Given the description of an element on the screen output the (x, y) to click on. 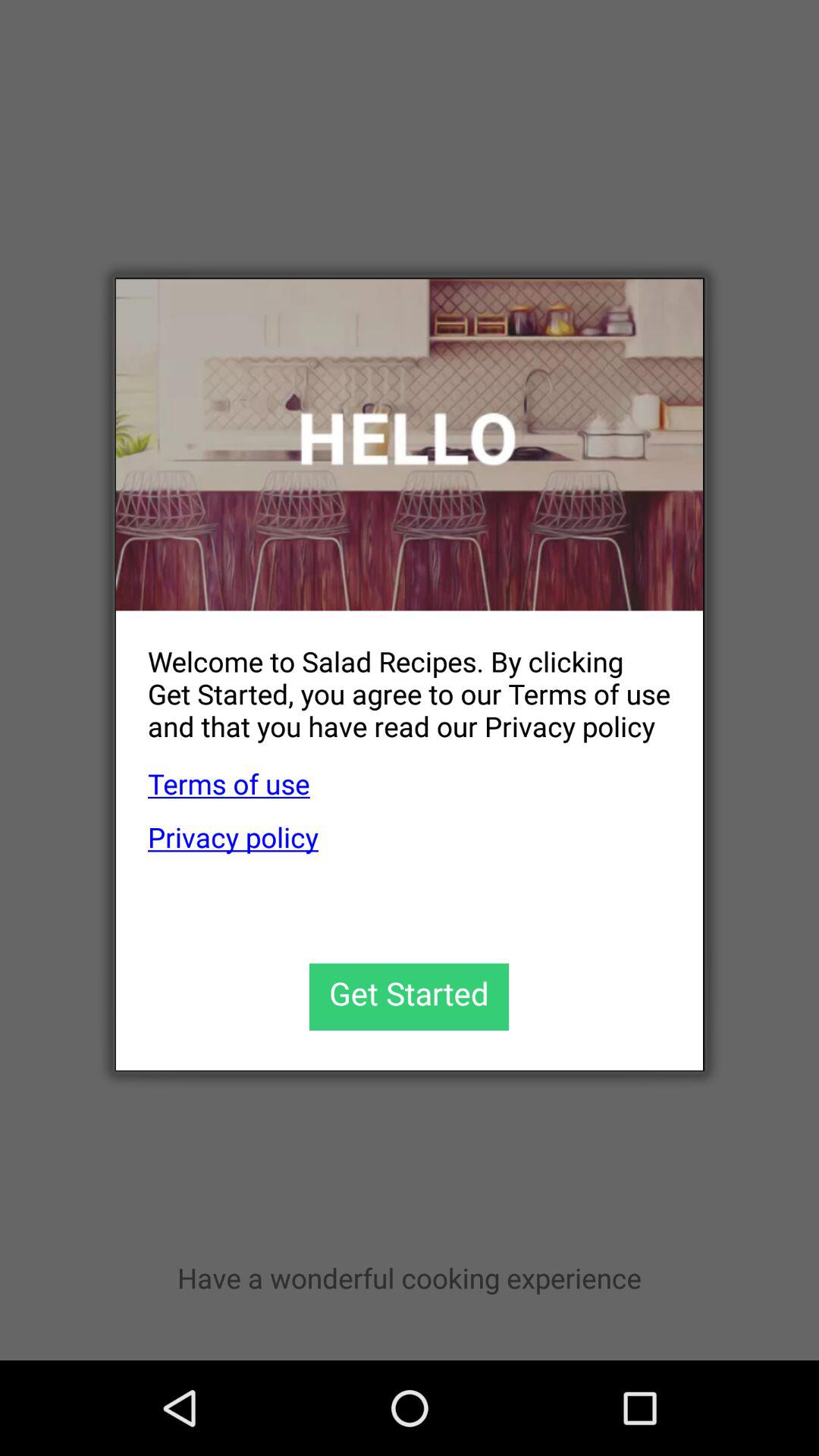
agree to terms of use and privacy policy (409, 996)
